Given the description of an element on the screen output the (x, y) to click on. 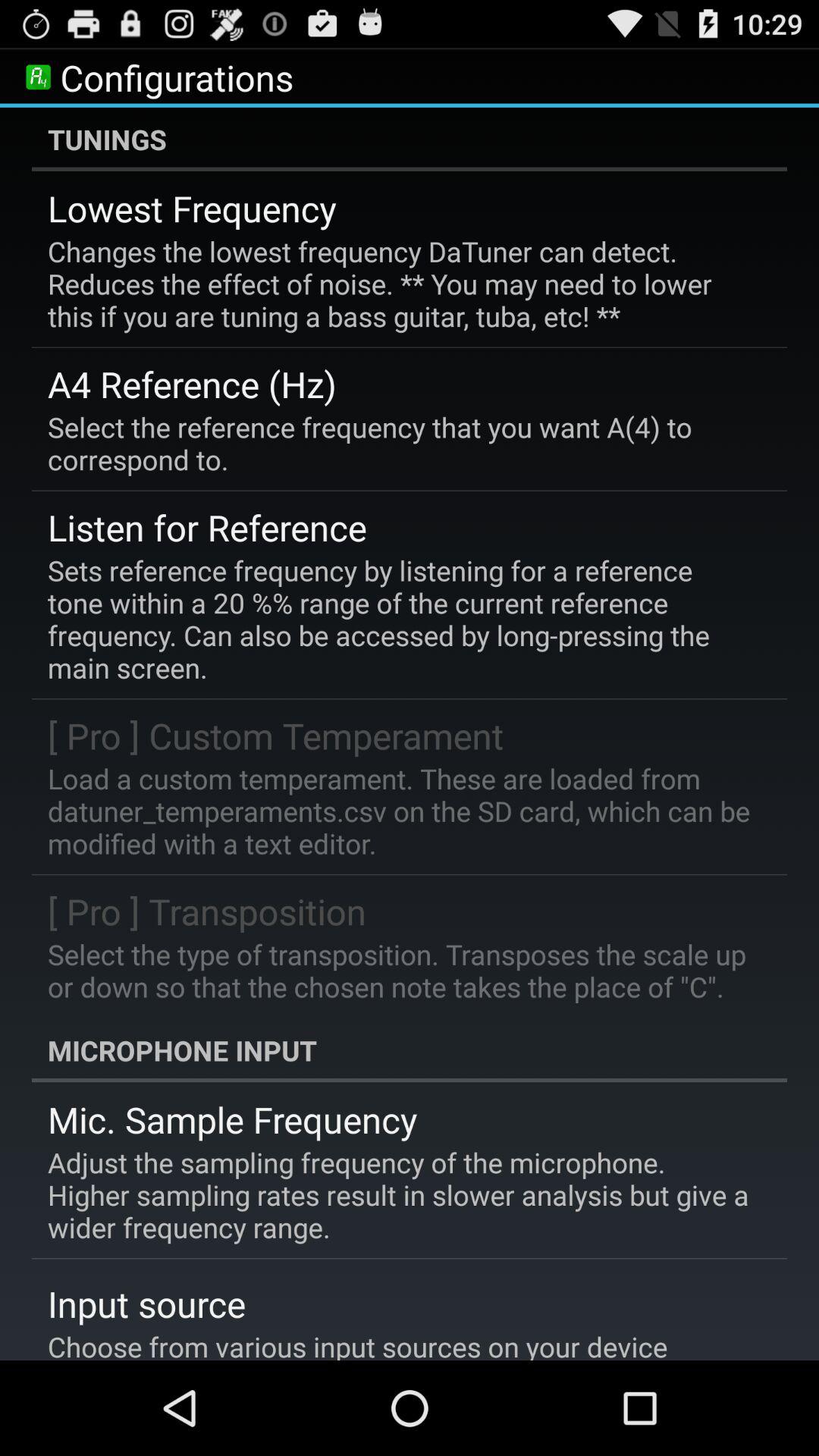
press the input source app (146, 1303)
